Given the description of an element on the screen output the (x, y) to click on. 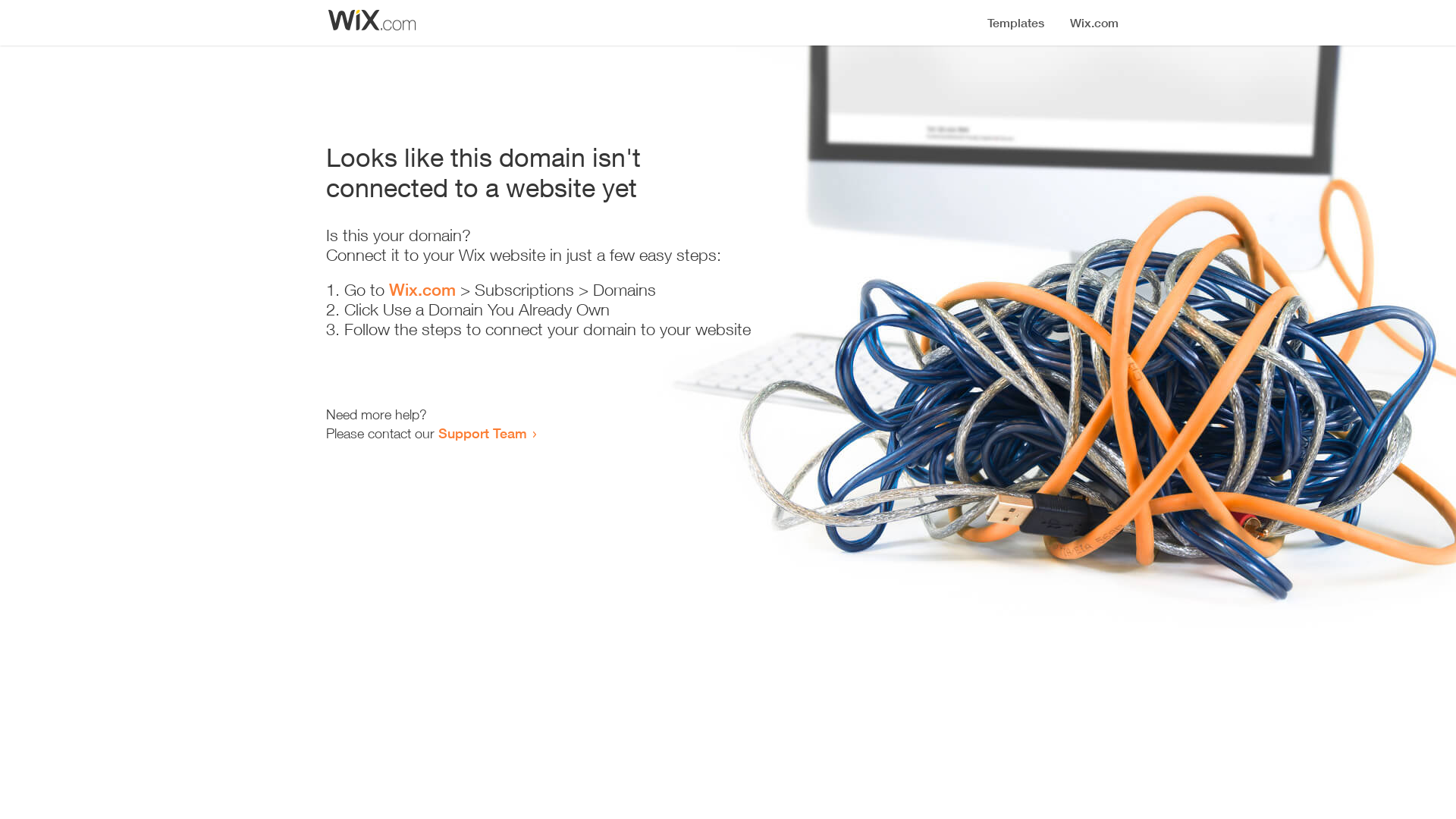
Wix.com Element type: text (422, 289)
Support Team Element type: text (482, 432)
